Given the description of an element on the screen output the (x, y) to click on. 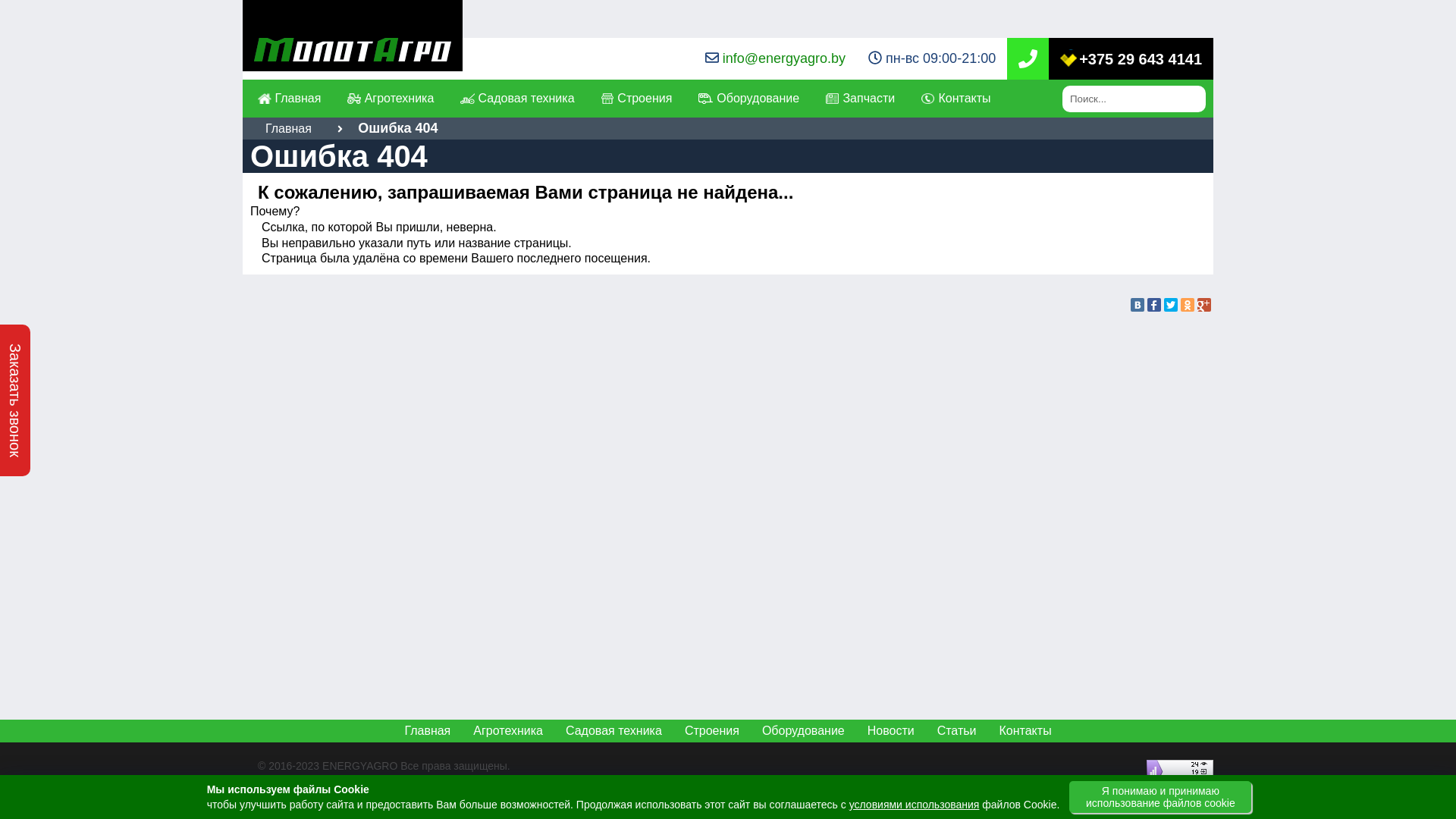
Twitter Element type: hover (1170, 304)
Facebook Element type: hover (1154, 304)
info@energyagro.by Element type: text (783, 57)
+375 29 643 4141 Element type: text (1130, 58)
PurpleLabs Element type: text (379, 782)
Google Plus Element type: hover (1204, 304)
